Given the description of an element on the screen output the (x, y) to click on. 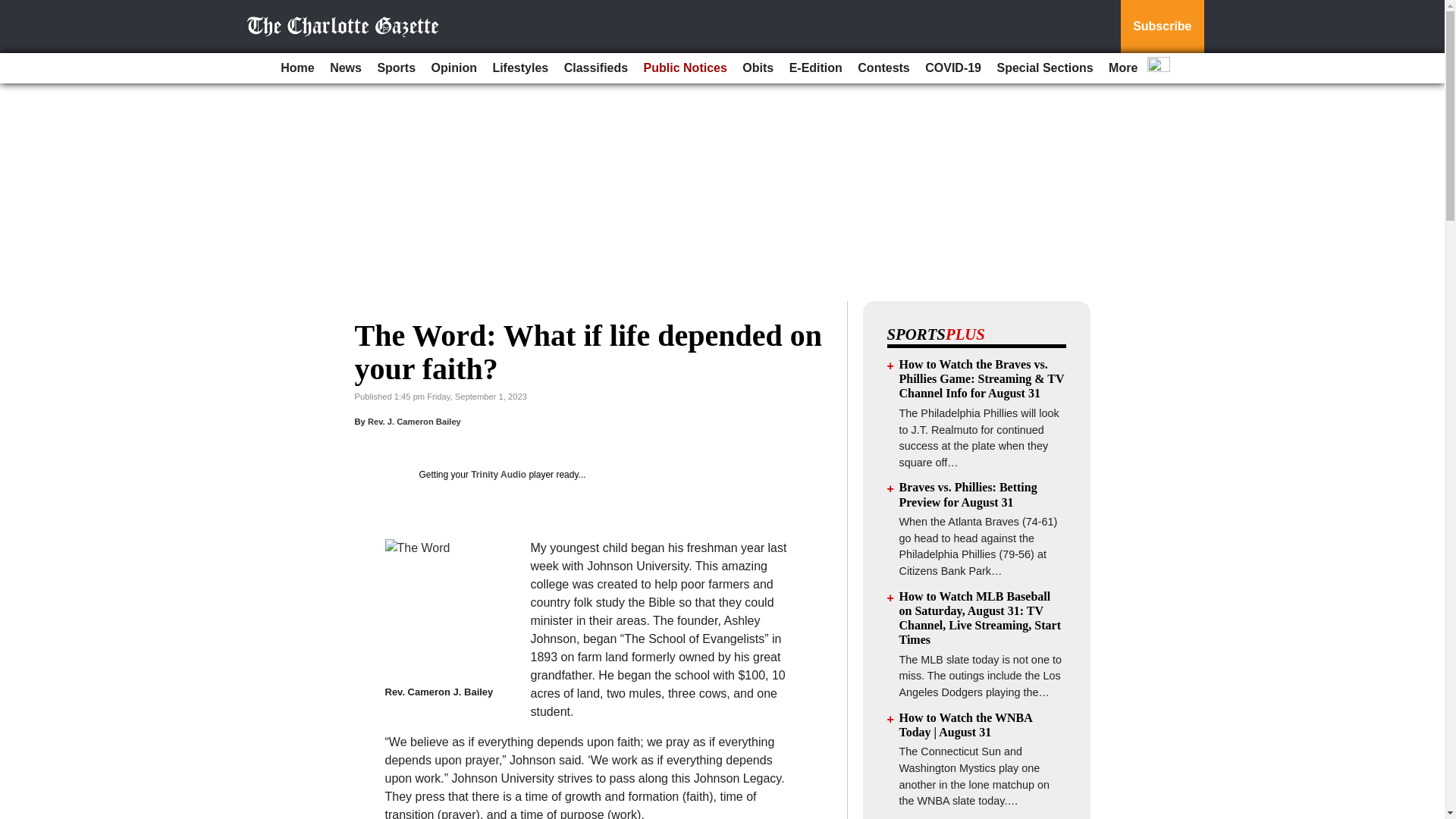
Sports (396, 68)
Obits (757, 68)
News (345, 68)
Special Sections (1044, 68)
Opinion (453, 68)
Public Notices (685, 68)
COVID-19 (952, 68)
Braves vs. Phillies: Betting Preview for August 31 (967, 493)
Lifestyles (520, 68)
